Given the description of an element on the screen output the (x, y) to click on. 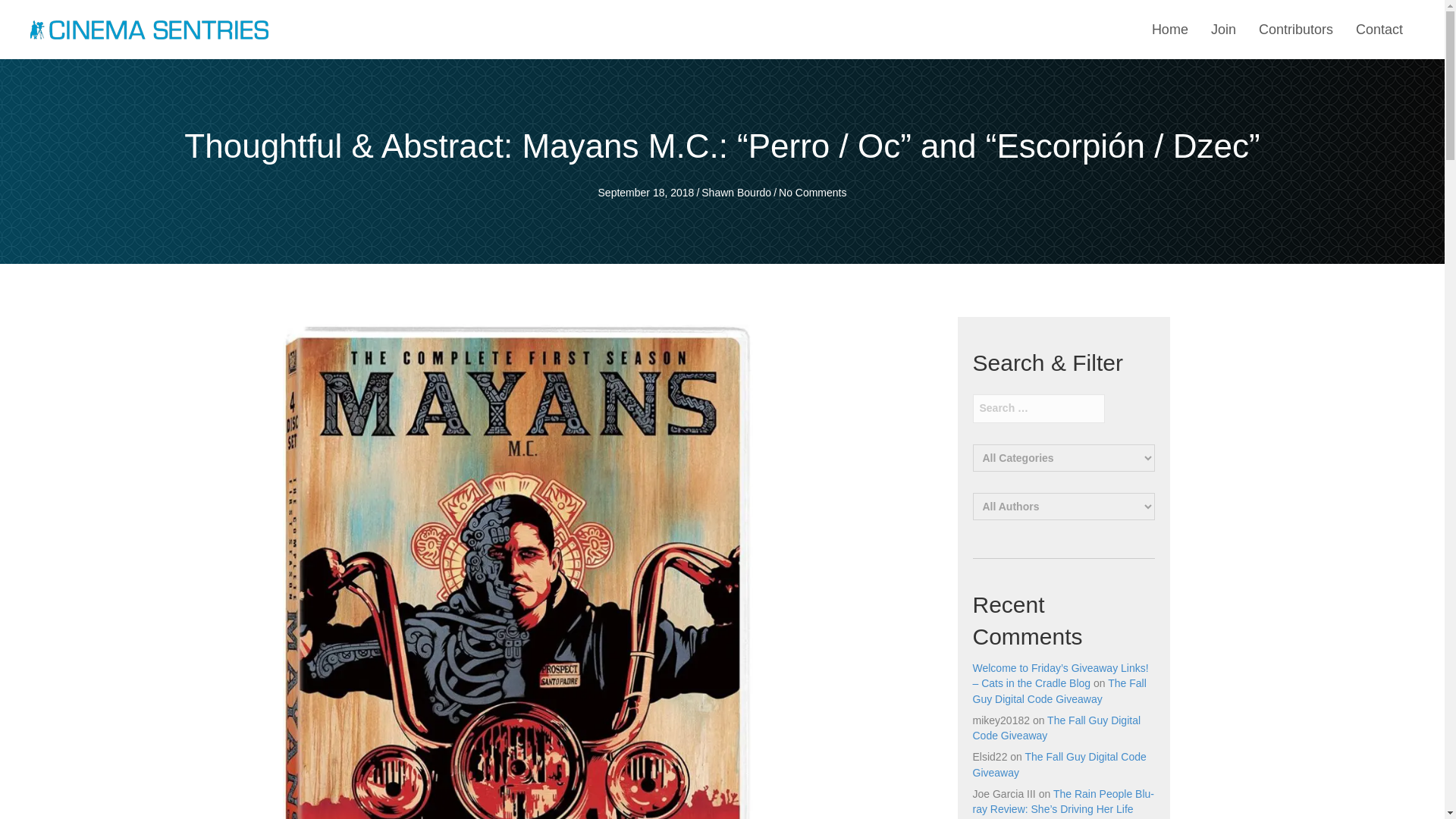
Shawn Bourdo (736, 192)
No Comments (811, 192)
Contributors (1295, 29)
The Fall Guy Digital Code Giveaway (1058, 764)
Home (1169, 29)
The Fall Guy Digital Code Giveaway (1058, 690)
Contact (1379, 29)
Cinema Sentries (148, 28)
Join (1223, 29)
The Fall Guy Digital Code Giveaway (1056, 728)
